Given the description of an element on the screen output the (x, y) to click on. 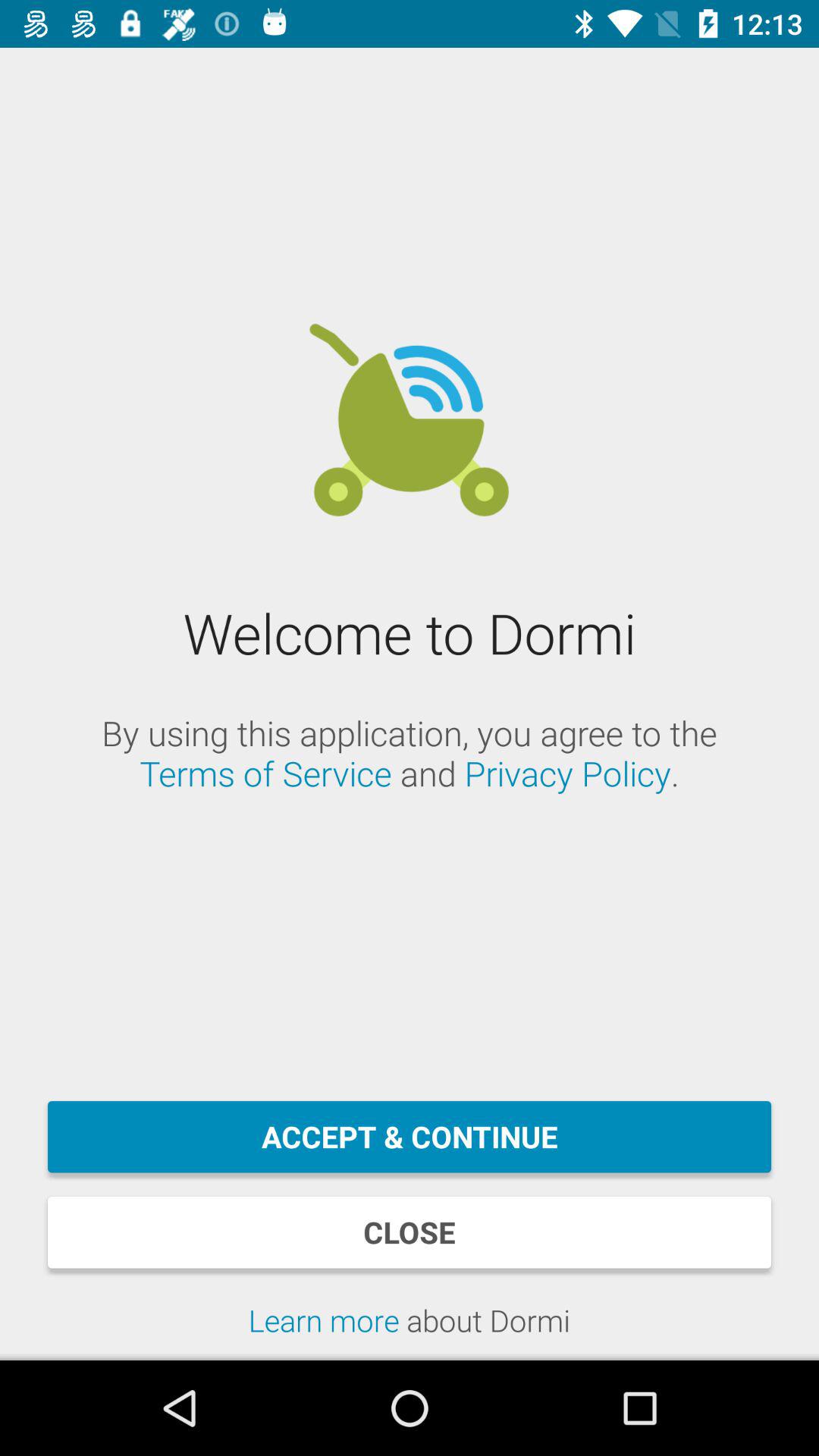
press icon below the accept & continue icon (409, 1232)
